Given the description of an element on the screen output the (x, y) to click on. 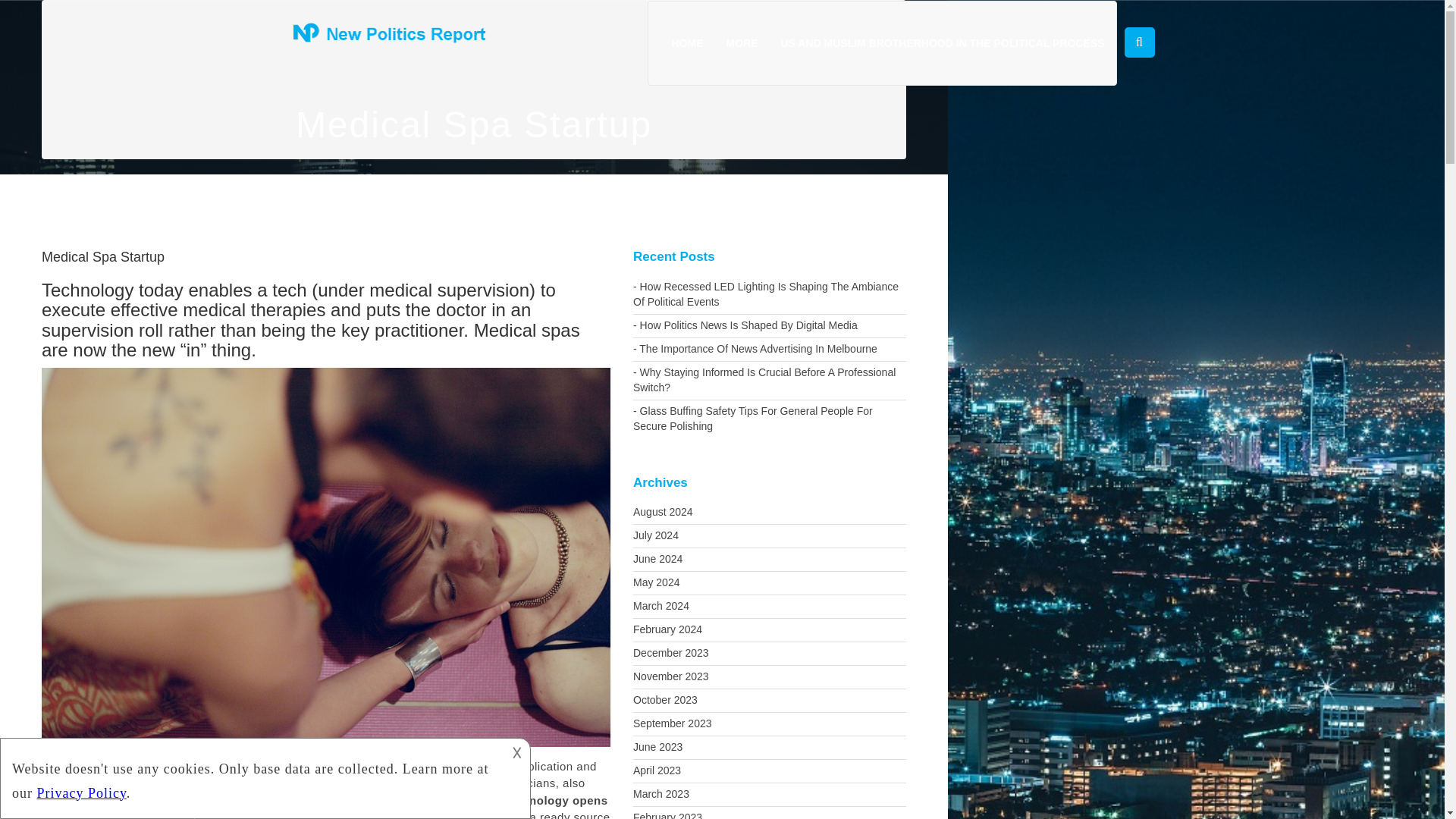
August 2024 (769, 512)
July 2024 (769, 535)
December 2023 (769, 653)
this new paradigm (342, 814)
description (252, 776)
March 2023 (769, 793)
April 2023 (769, 771)
May 2024 (769, 582)
